Given the description of an element on the screen output the (x, y) to click on. 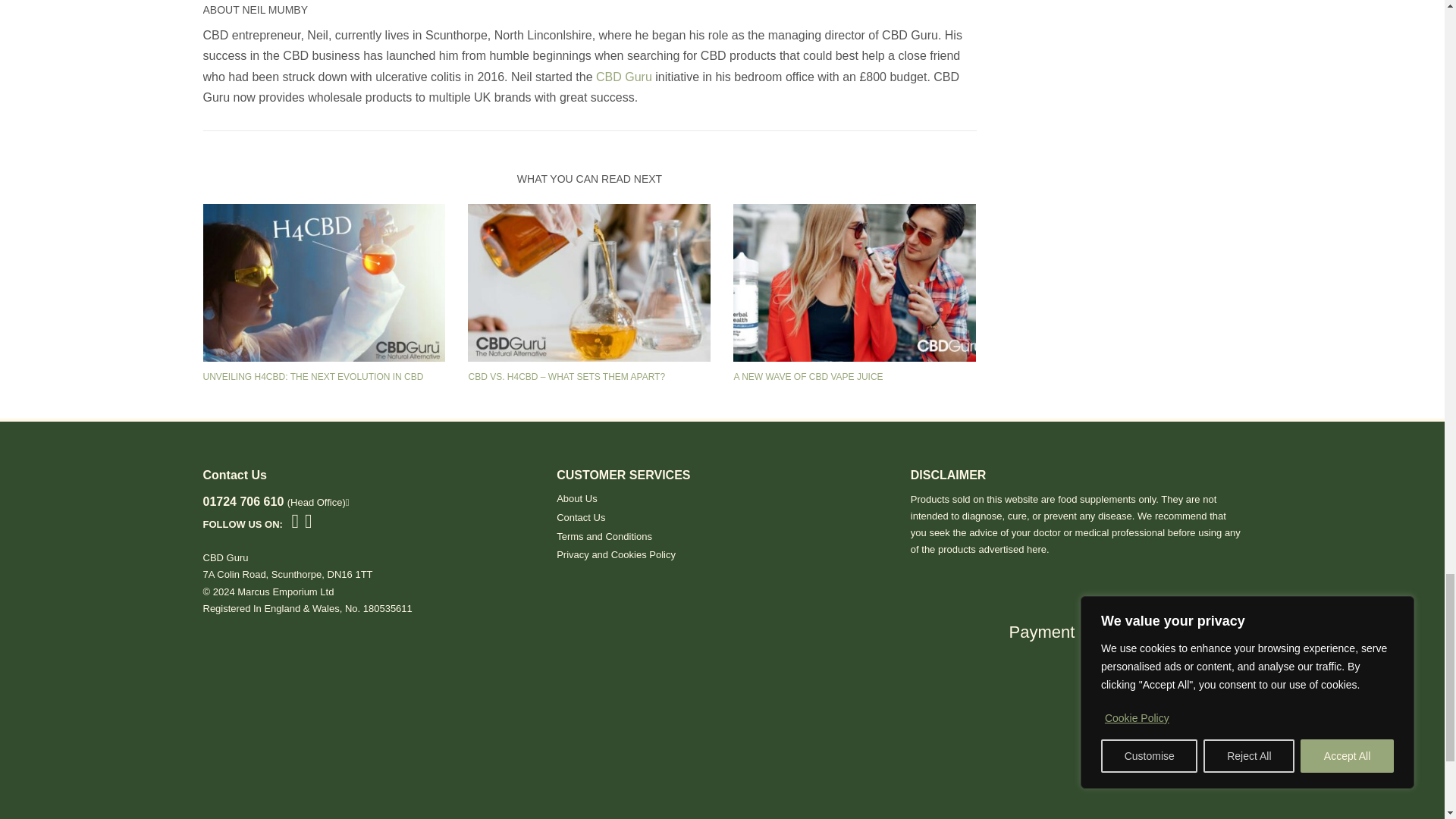
what-is-h4cbd (324, 282)
